Given the description of an element on the screen output the (x, y) to click on. 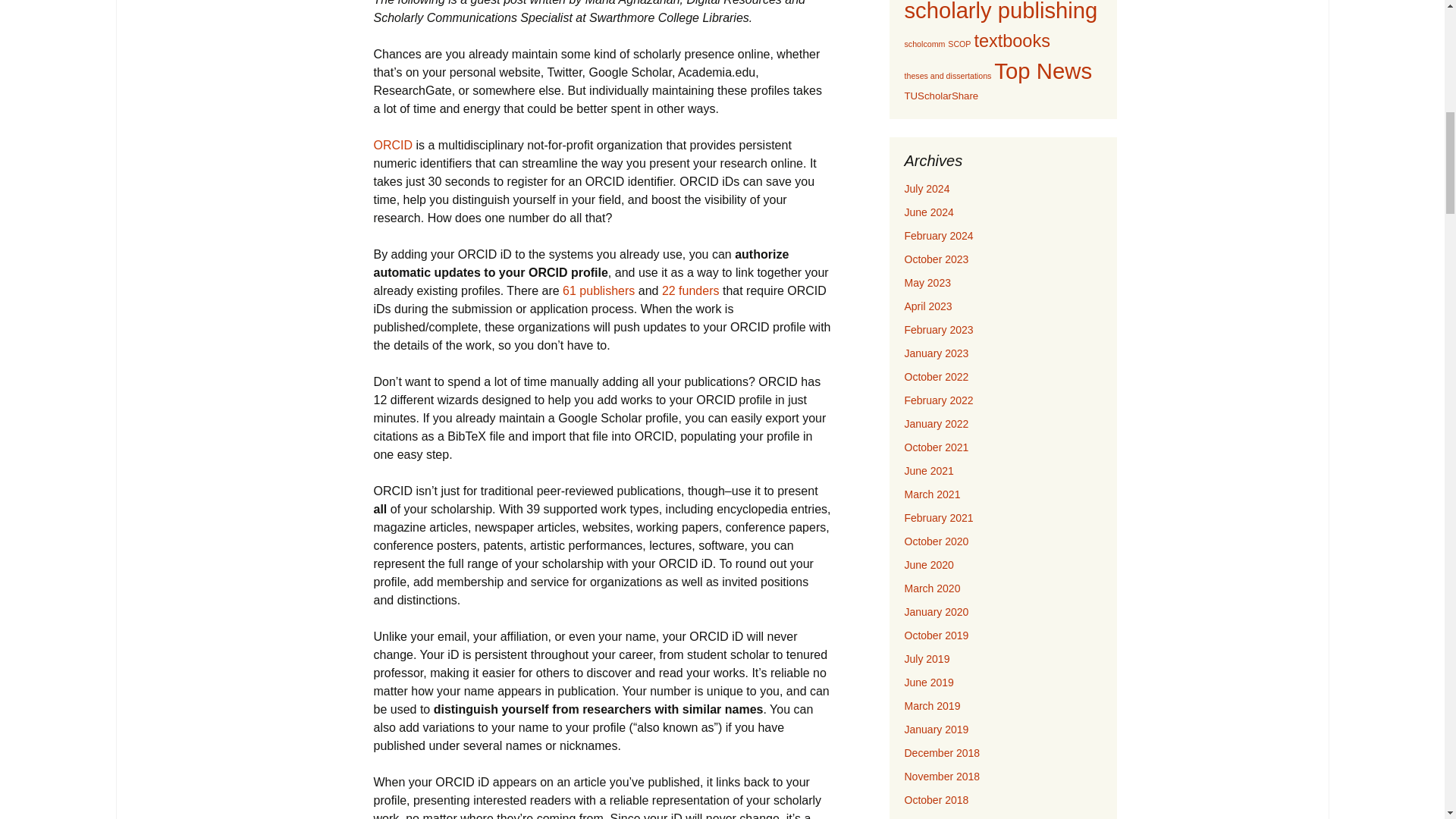
22 funders (690, 290)
61 publishers (598, 290)
ORCID (392, 144)
